Given the description of an element on the screen output the (x, y) to click on. 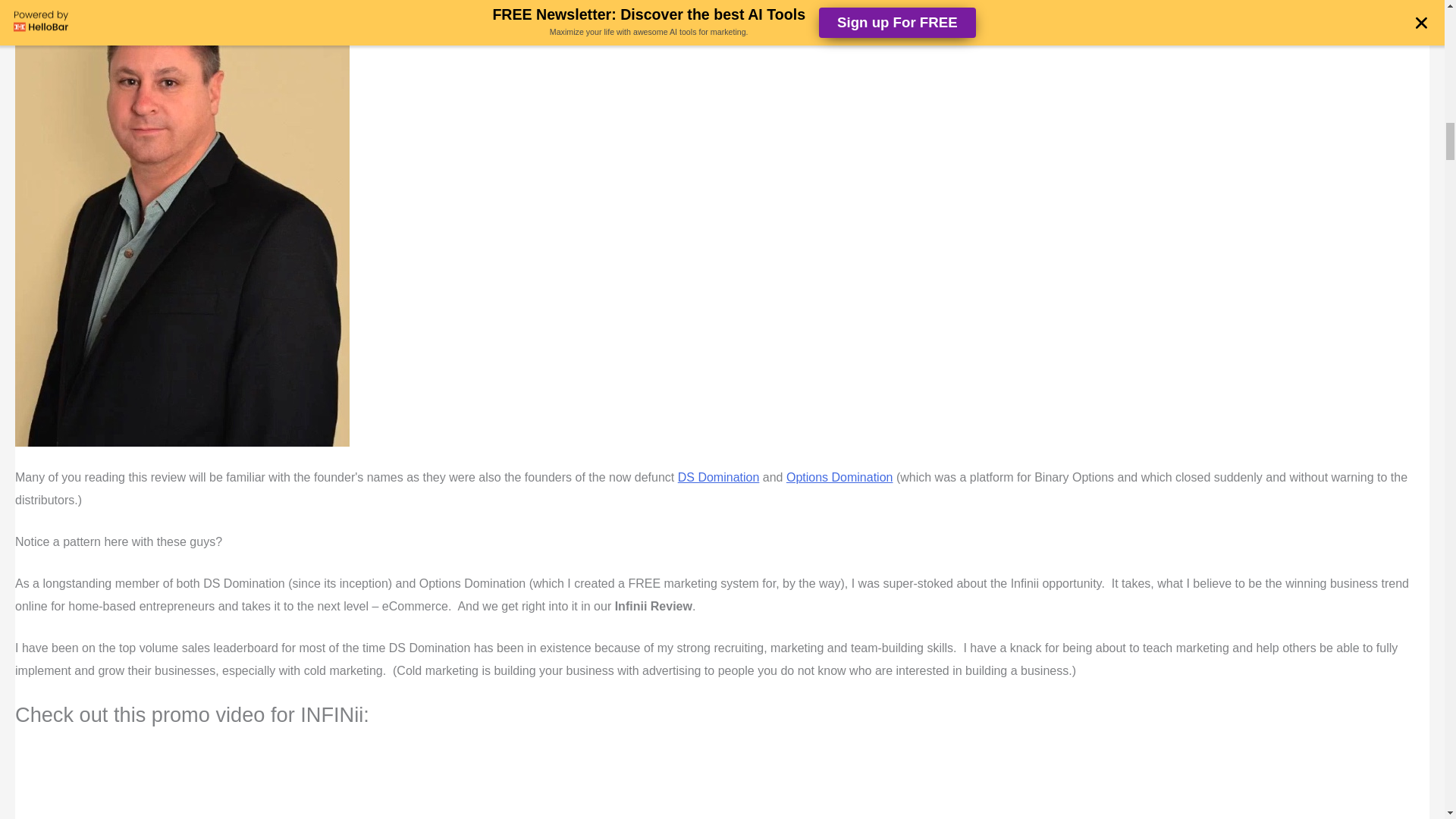
Options Domination (839, 477)
DS Domination (719, 477)
